Given the description of an element on the screen output the (x, y) to click on. 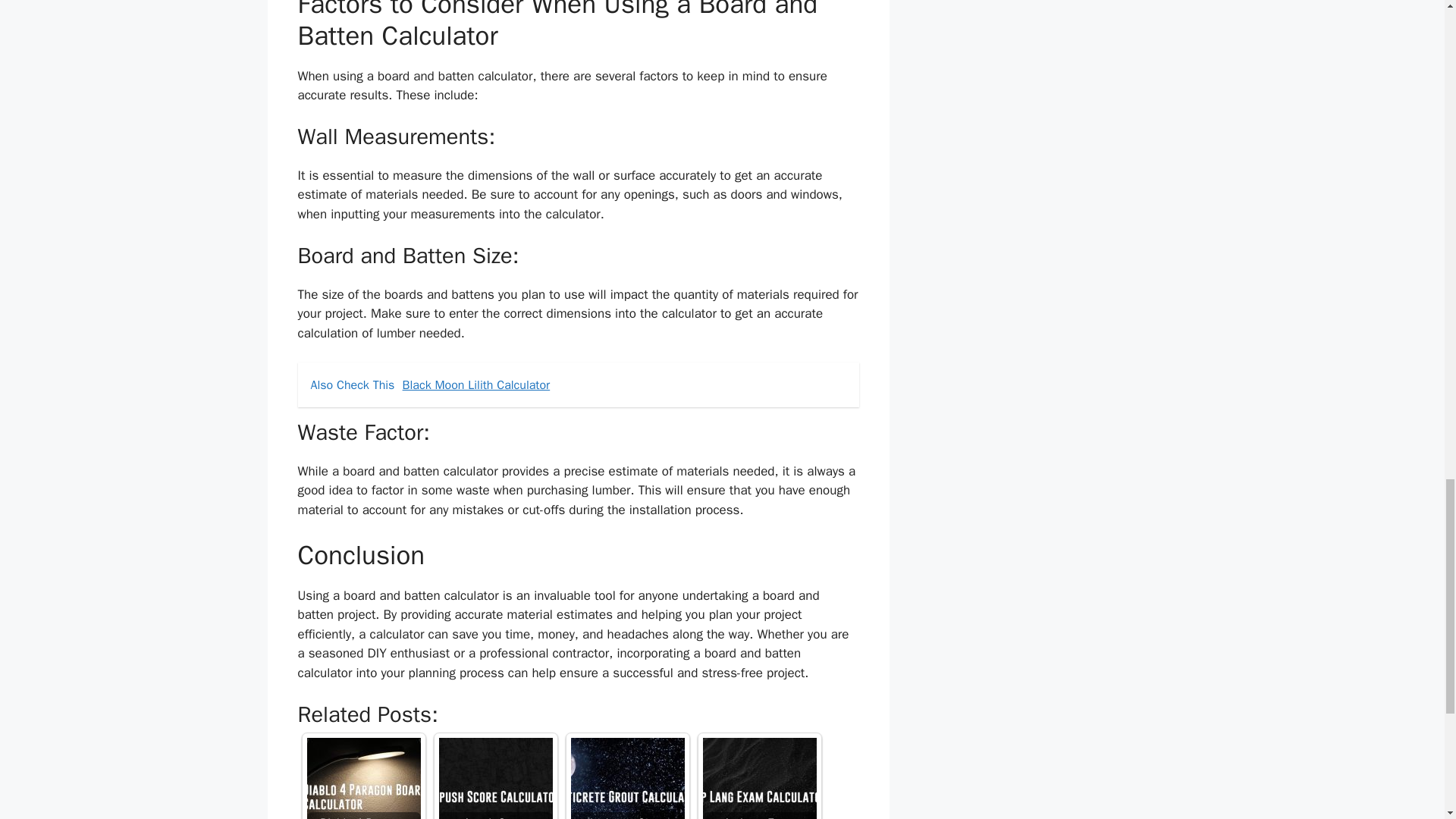
Laticrete Grout Calculator (627, 778)
Ap Lang Exam Calculator (758, 778)
Also Check This  Black Moon Lilith Calculator (578, 384)
Apush Score Calculator (494, 778)
Diablo 4 Paragon Board Calculator (362, 778)
Laticrete Grout Calculator (627, 778)
Ap Lang Exam Calculator (758, 778)
Diablo 4 Paragon Board Calculator (362, 778)
Apush Score Calculator (494, 778)
